Given the description of an element on the screen output the (x, y) to click on. 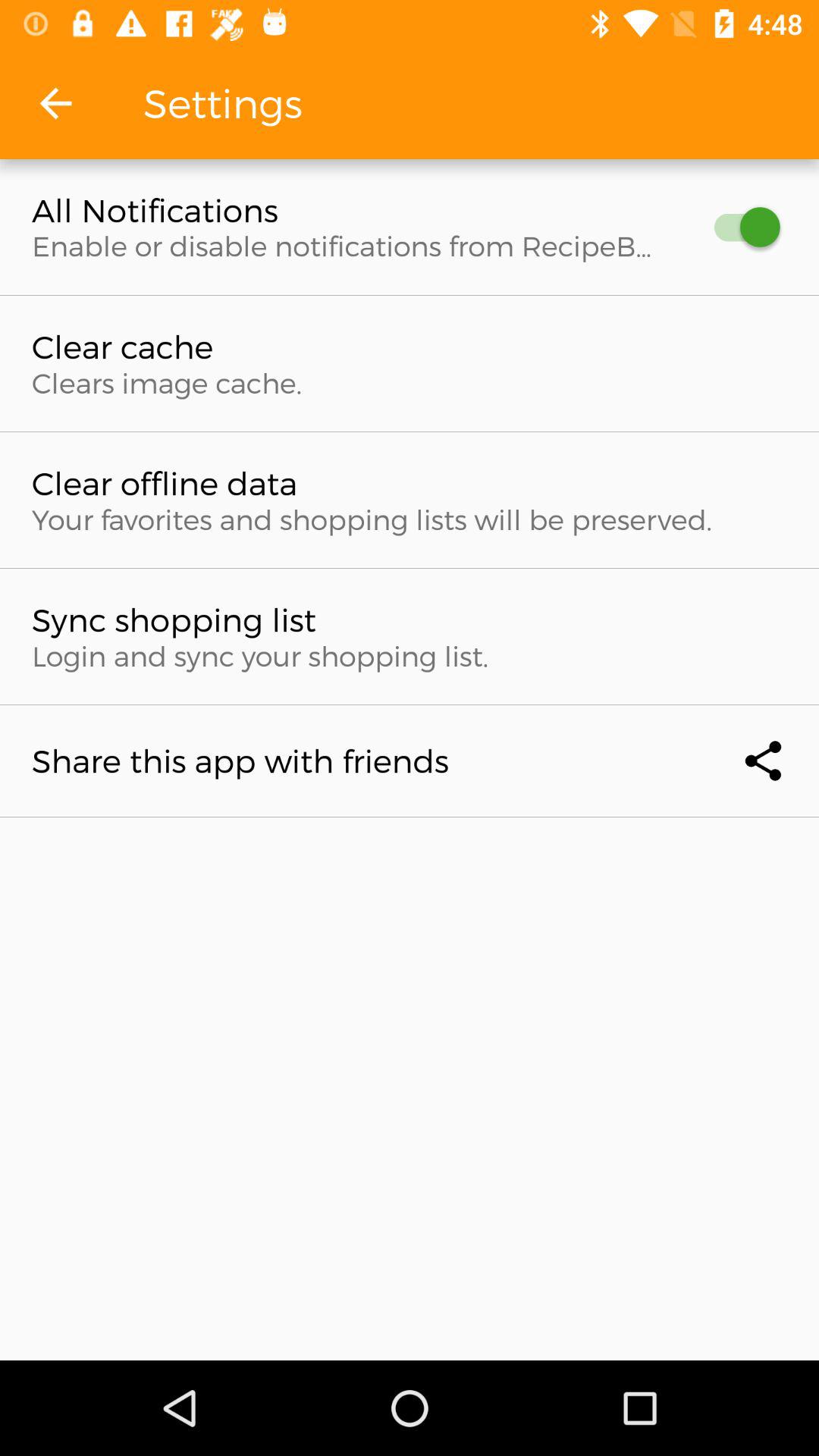
turn on the share this app item (409, 760)
